Given the description of an element on the screen output the (x, y) to click on. 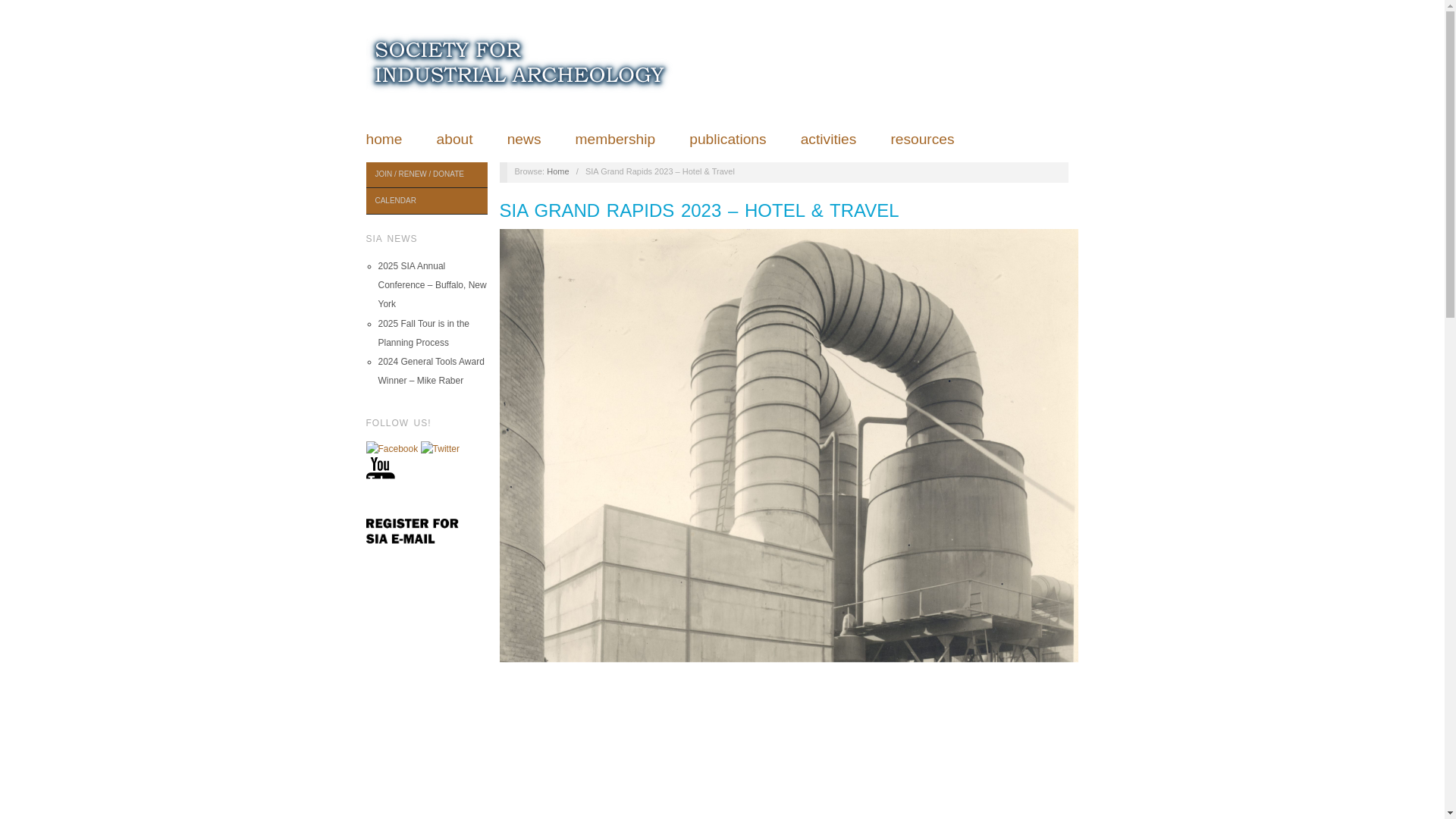
Society for Industrial Archeology (558, 171)
about (454, 138)
membership (615, 138)
news (523, 138)
publications (726, 138)
Society for Industrial Archeology (520, 60)
home (383, 138)
